Given the description of an element on the screen output the (x, y) to click on. 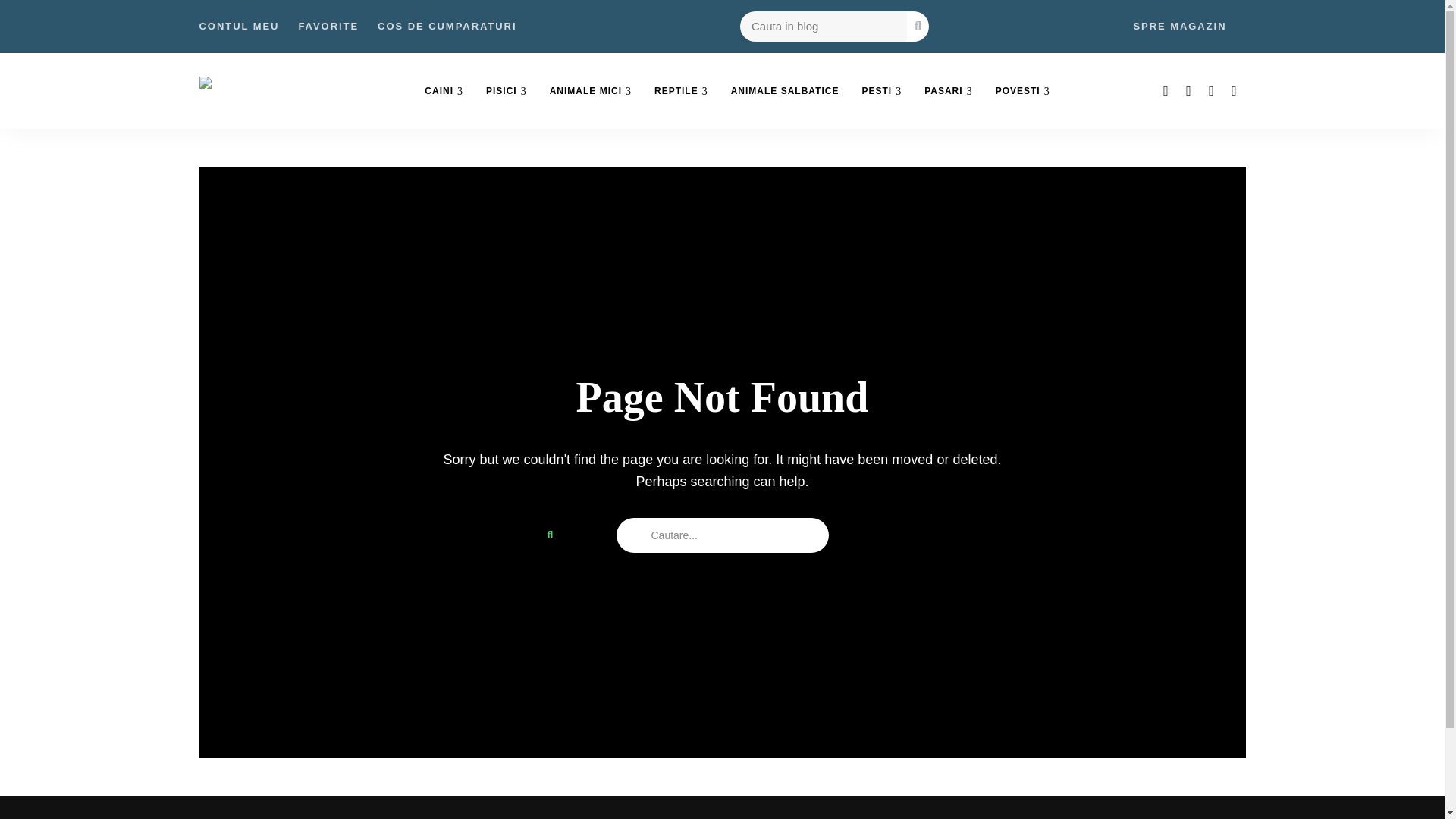
PASARI (948, 90)
CONTUL MEU (238, 26)
FAVORITE (328, 26)
ANIMALE MICI (590, 90)
ANIMALE SALBATICE (784, 90)
COS DE CUMPARATURI (446, 26)
SPRE MAGAZIN (1178, 26)
POVESTI (1022, 90)
REPTILE (681, 90)
